Given the description of an element on the screen output the (x, y) to click on. 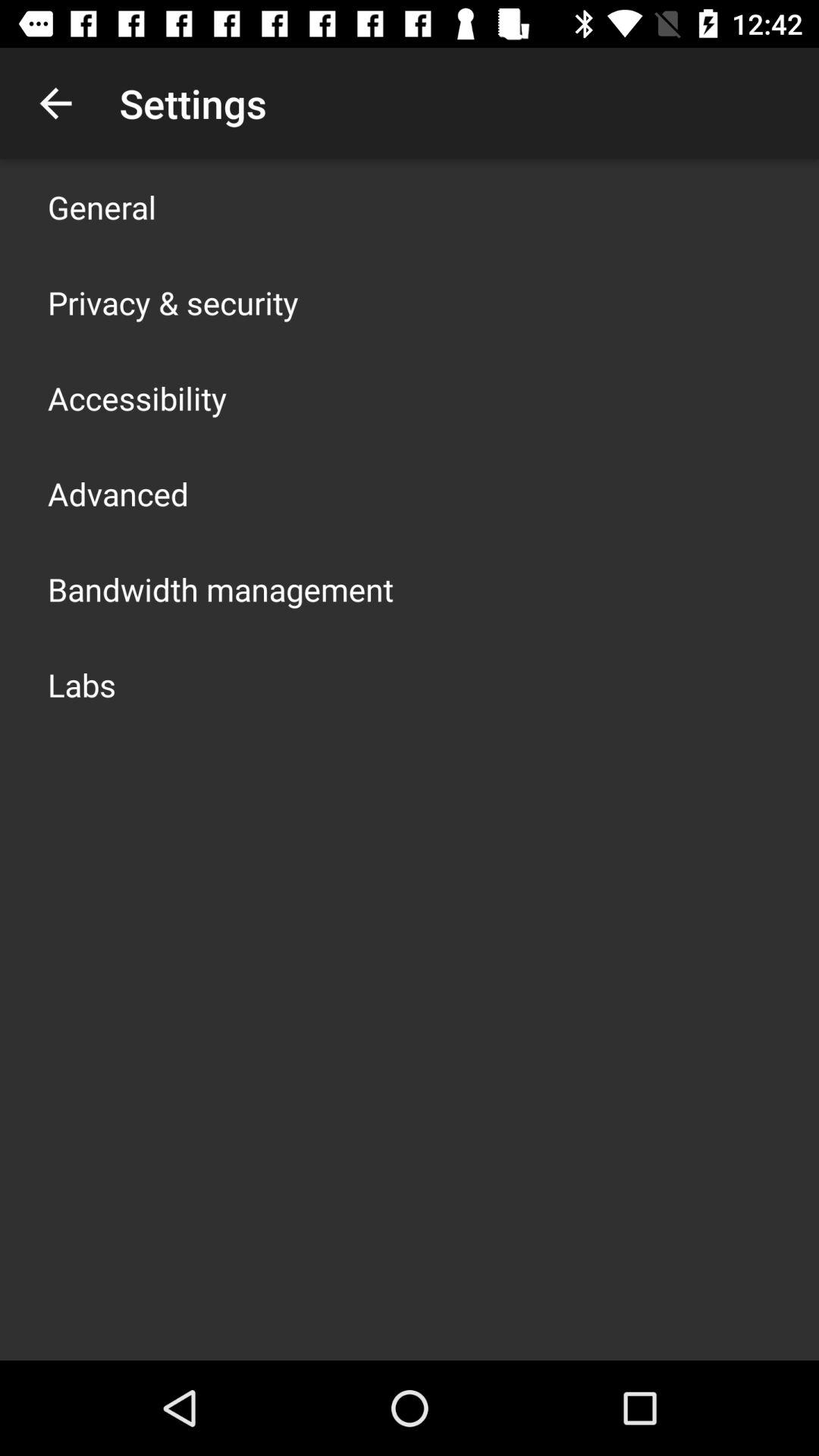
open the icon below the general icon (172, 302)
